Given the description of an element on the screen output the (x, y) to click on. 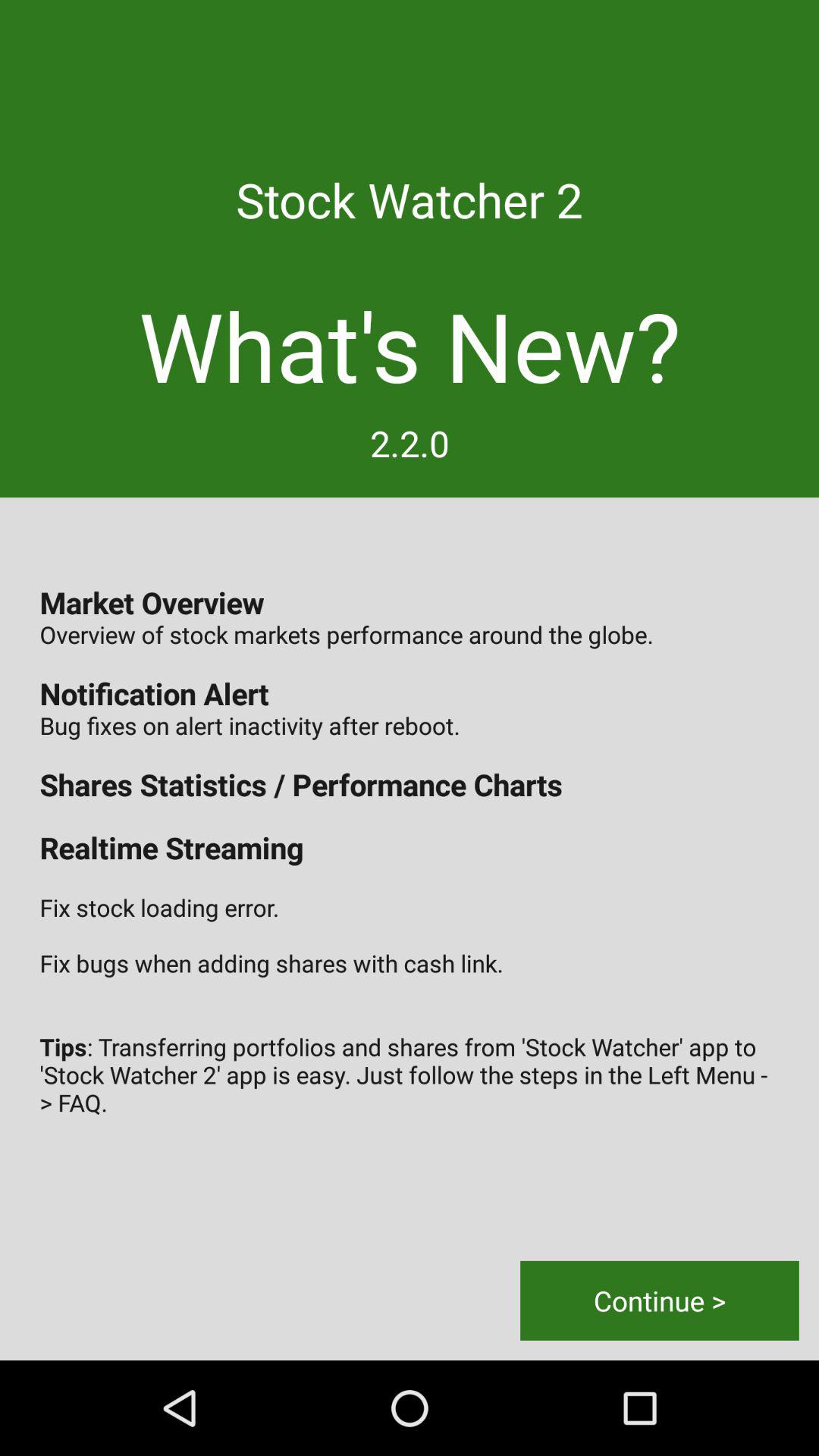
launch the item at the bottom right corner (659, 1300)
